Given the description of an element on the screen output the (x, y) to click on. 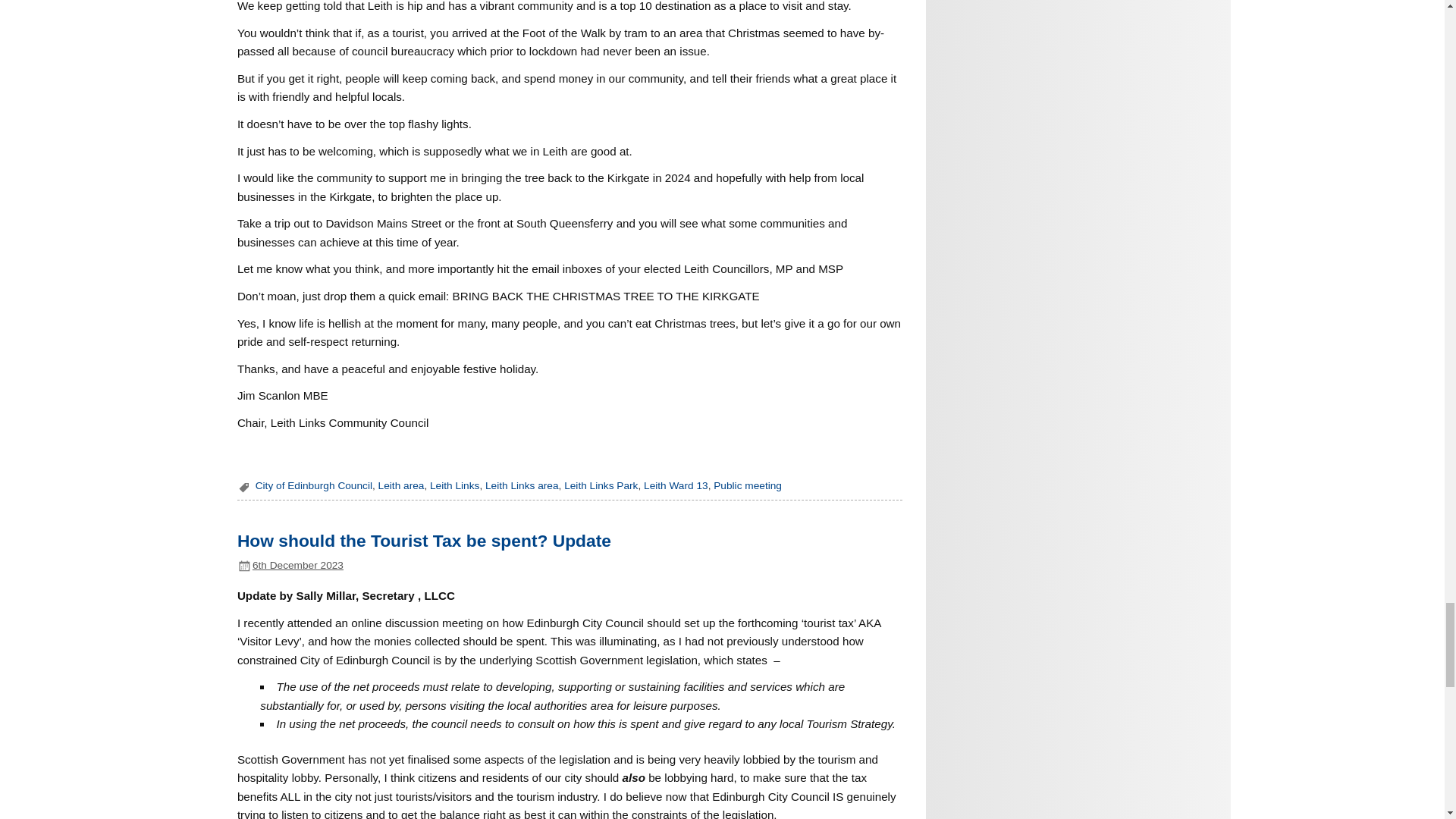
2:16 PM (297, 564)
